Given the description of an element on the screen output the (x, y) to click on. 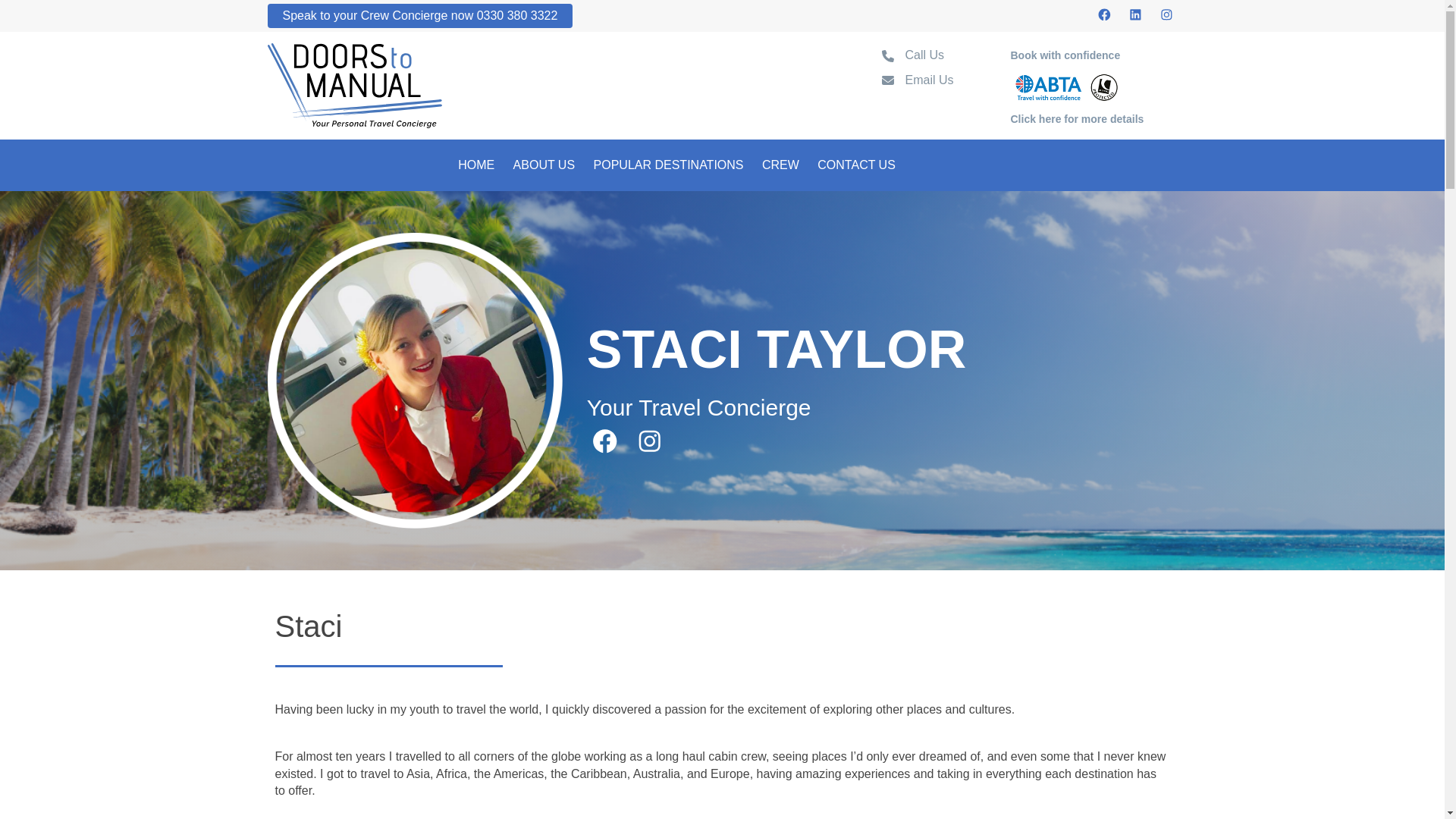
Facebook (1104, 14)
LinkedIn (1135, 14)
Go to the home page (353, 83)
CREW (780, 164)
POPULAR DESTINATIONS (668, 164)
Speak to your Crew Concierge now 0330 380 3322 (419, 15)
CONTACT US (855, 164)
Instagram (648, 440)
HOME (475, 164)
ABOUT US (544, 164)
